Given the description of an element on the screen output the (x, y) to click on. 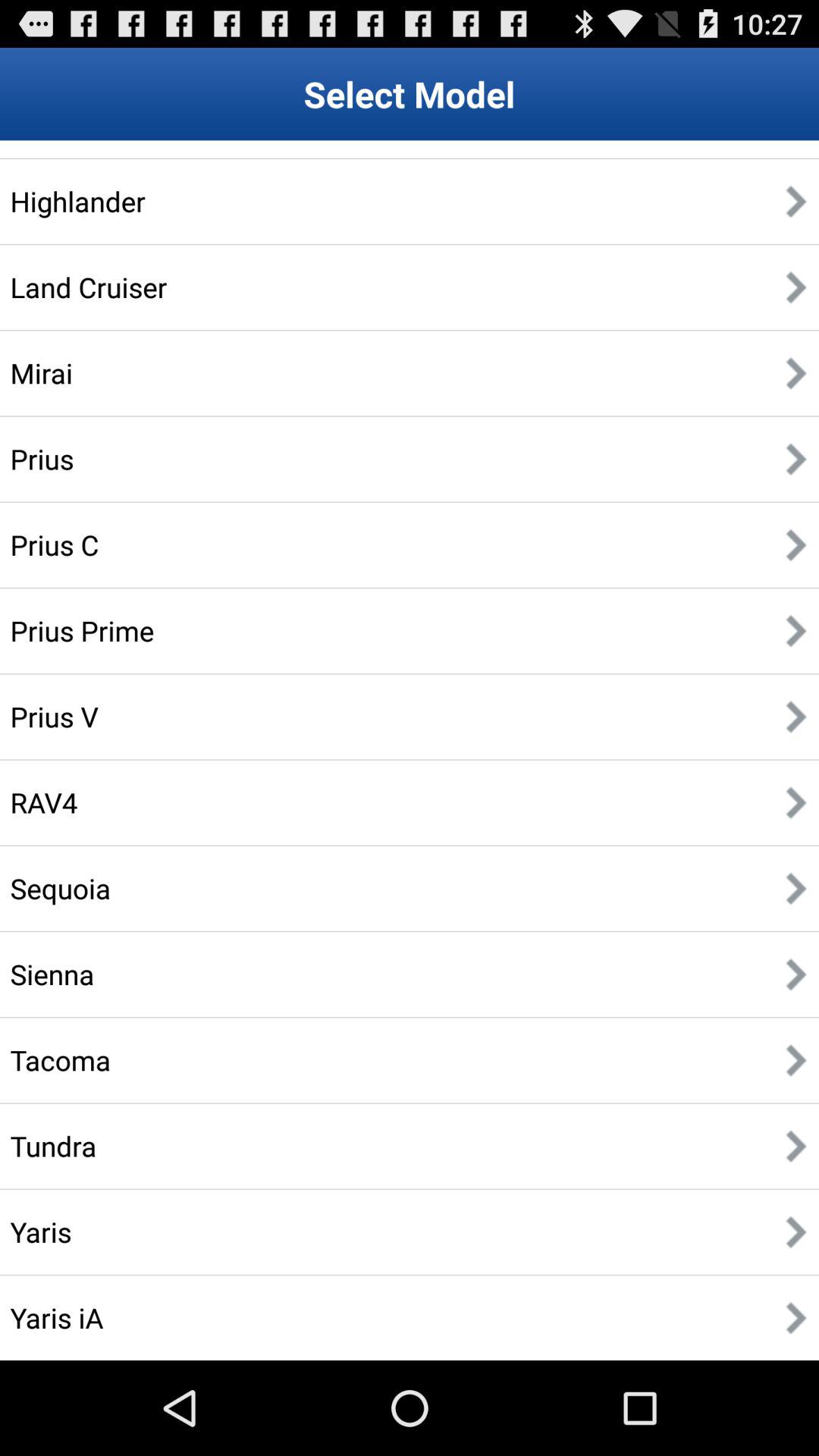
launch tacoma icon (60, 1059)
